Given the description of an element on the screen output the (x, y) to click on. 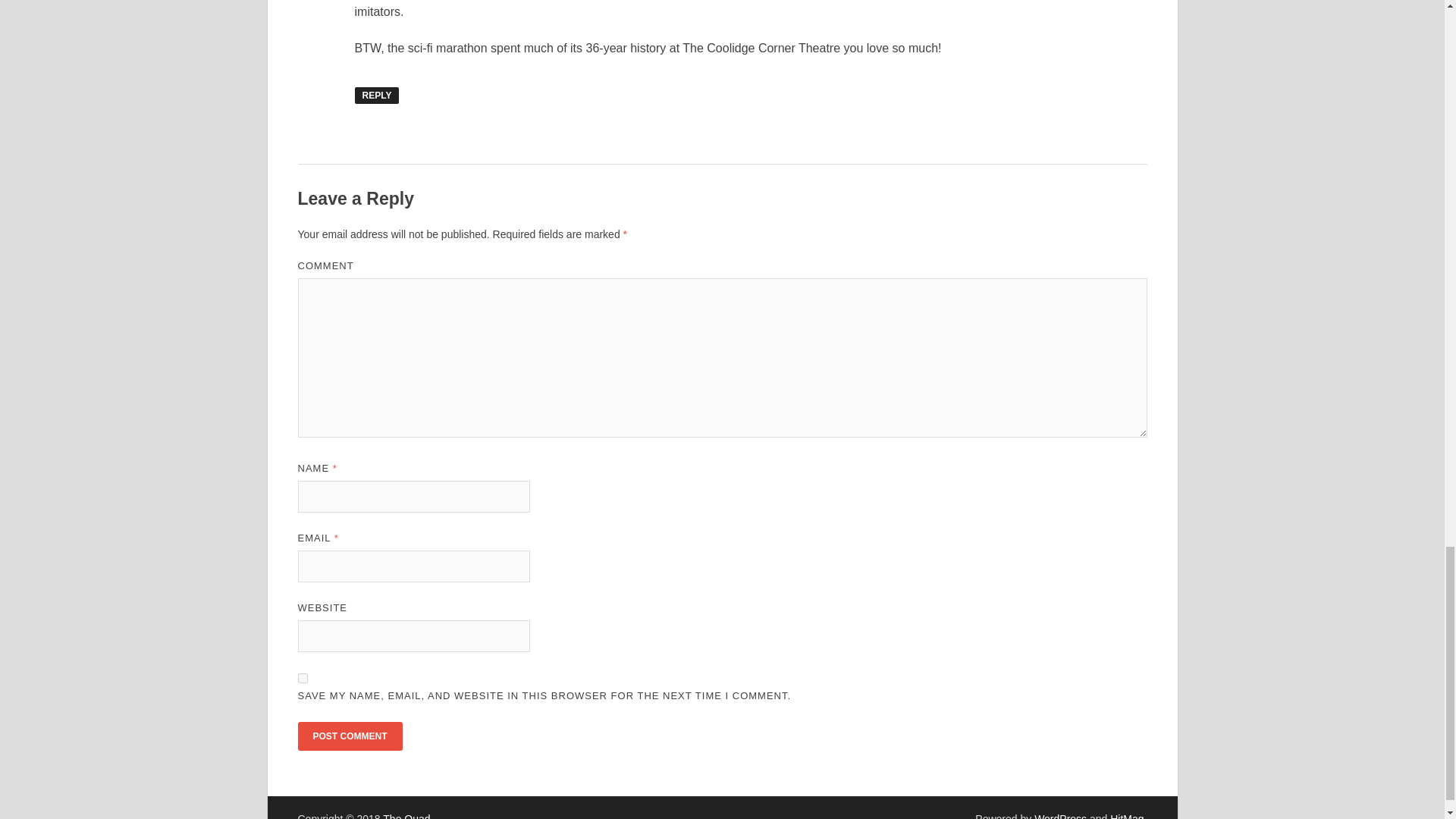
yes (302, 678)
Post Comment (349, 736)
Post Comment (349, 736)
REPLY (376, 95)
